Given the description of an element on the screen output the (x, y) to click on. 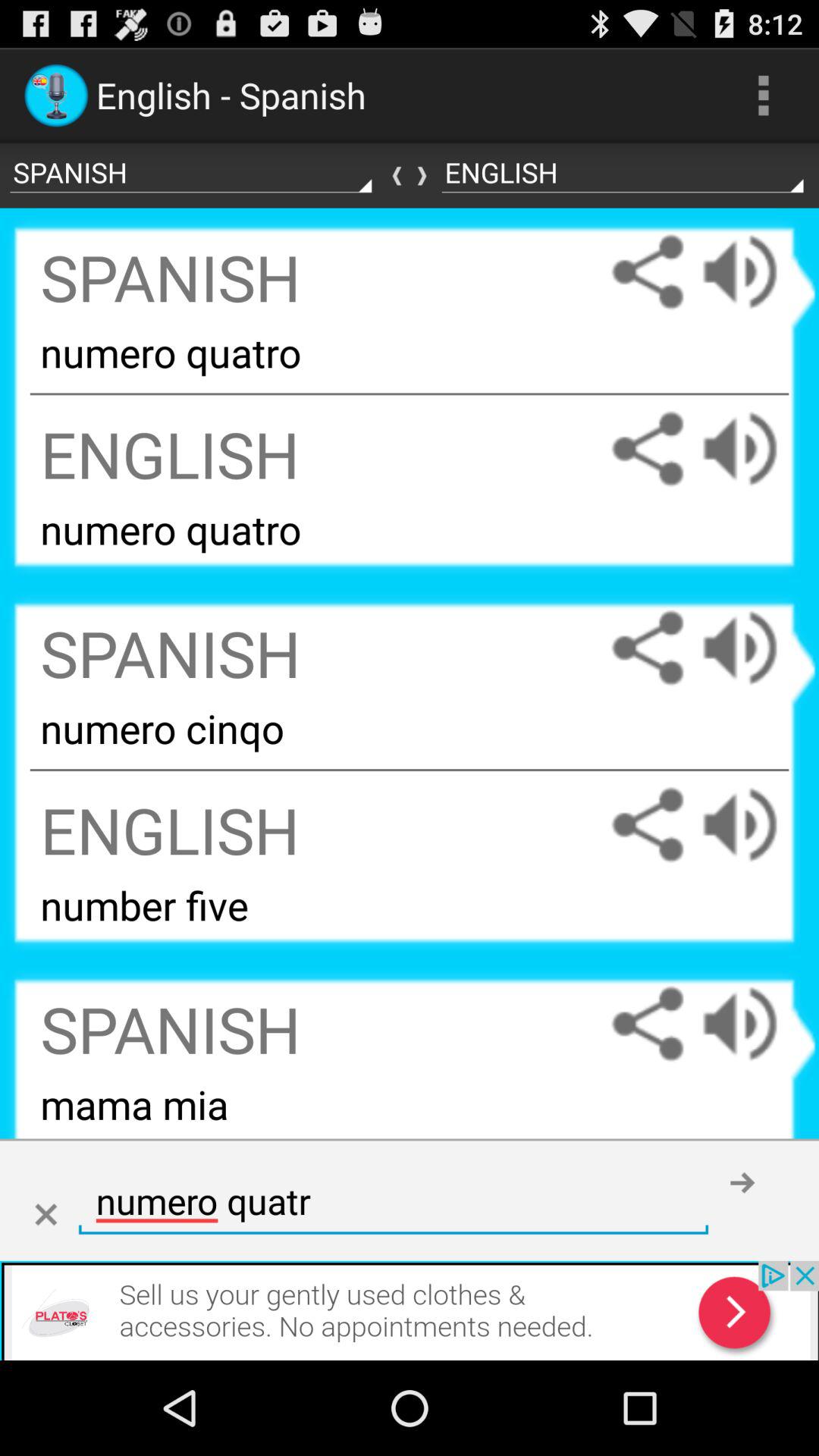
share (647, 647)
